Given the description of an element on the screen output the (x, y) to click on. 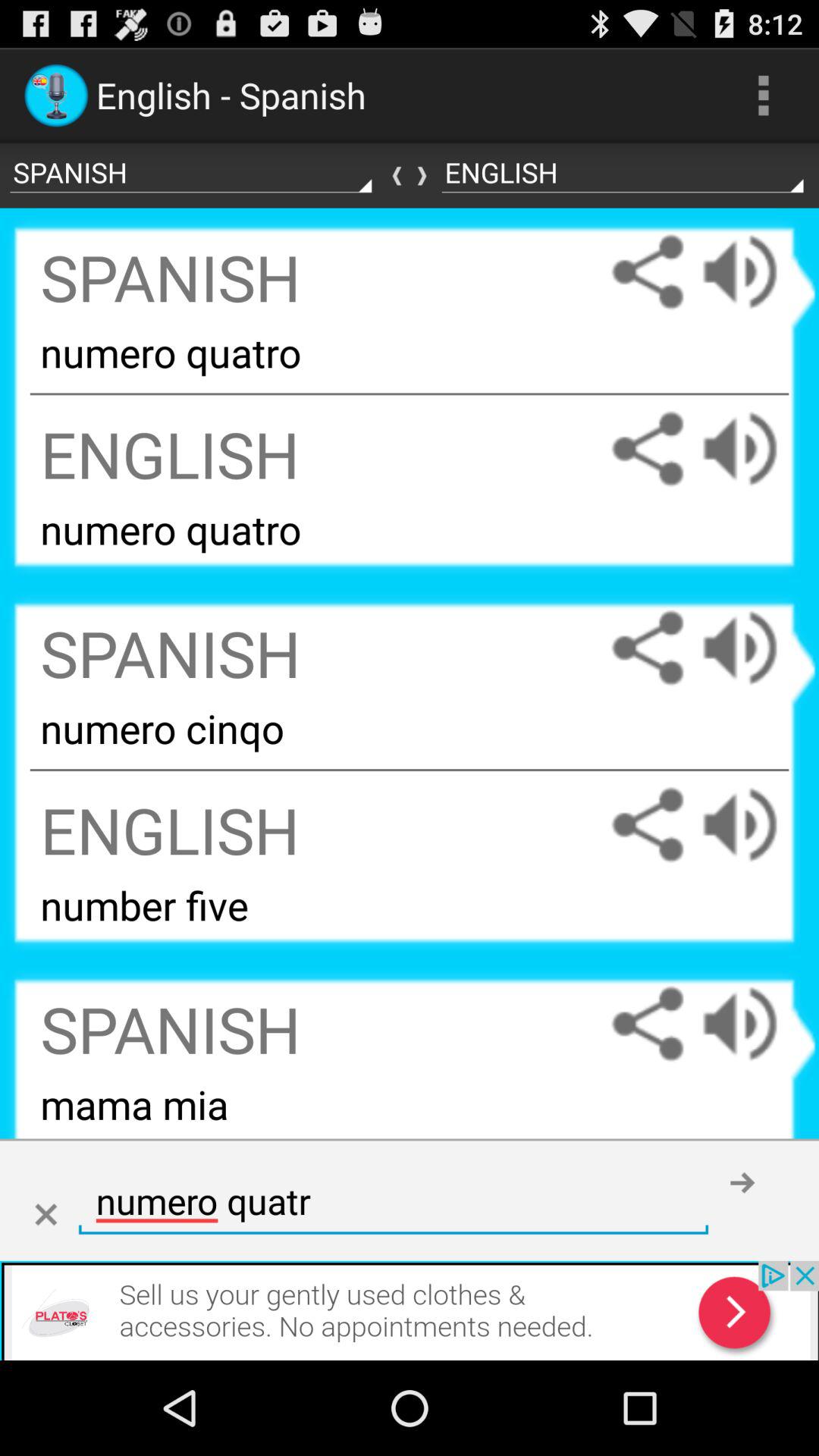
share (647, 647)
